Given the description of an element on the screen output the (x, y) to click on. 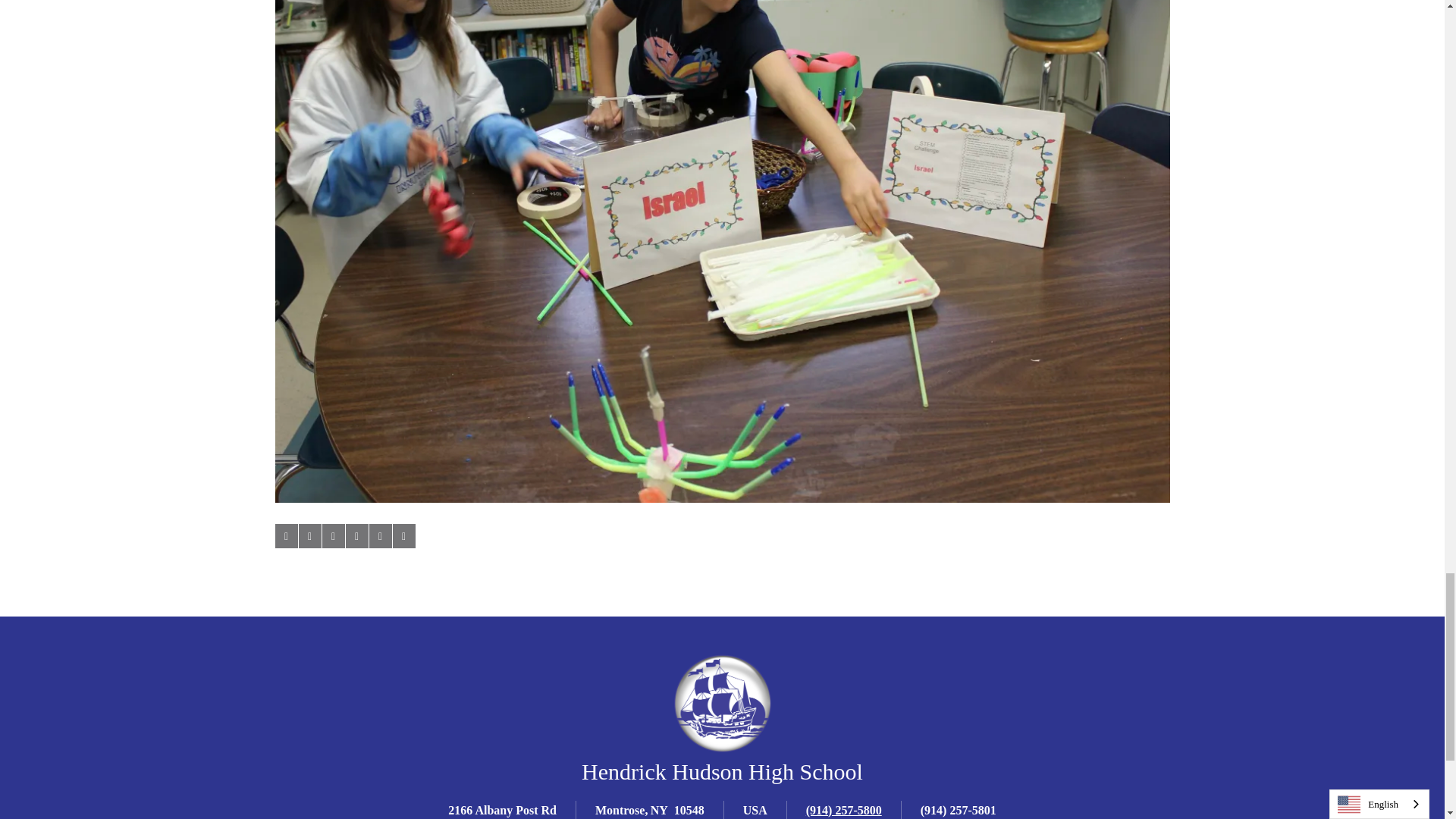
Share to Email (379, 535)
Share to Facebook (286, 535)
Share to LinkedIn (332, 535)
Share to Pinterest (357, 535)
Print this page (403, 535)
Share to Twitter (309, 535)
